Given the description of an element on the screen output the (x, y) to click on. 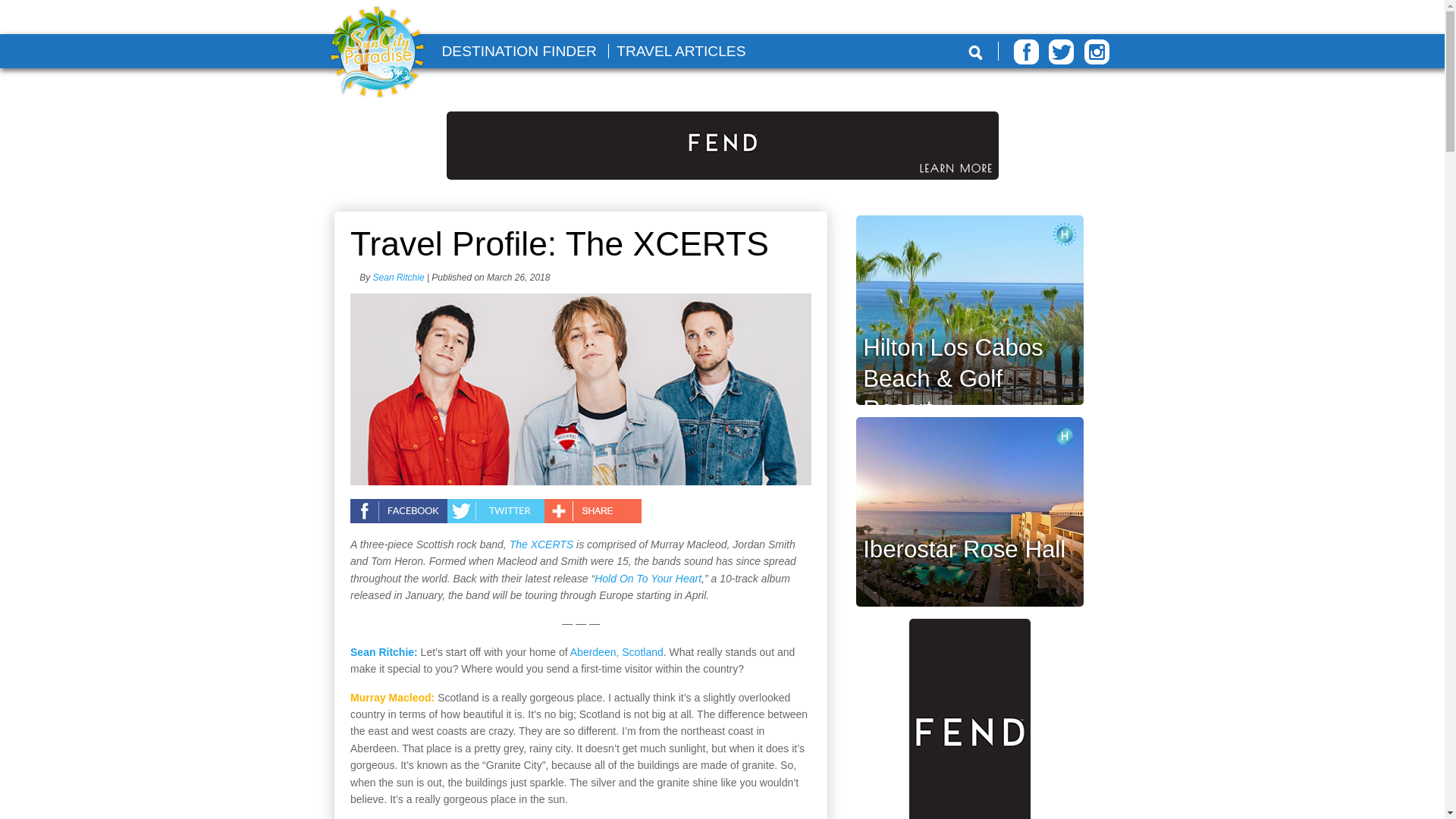
Twitter (1061, 51)
Aberdeen, Scotland (616, 652)
Instagram (1096, 51)
Hold On To Your Heart (647, 578)
Sean Ritchie (398, 276)
DESTINATION FINDER (518, 50)
SunCity Paradise (376, 53)
Travel Articles (680, 50)
Destination Finder (518, 50)
Sean Ritchie (398, 276)
Iberostar Rose Hall (964, 549)
The XCERTS (541, 544)
Sean Ritchie: (383, 652)
TRAVEL ARTICLES (680, 50)
Murray Macleod: (391, 697)
